Given the description of an element on the screen output the (x, y) to click on. 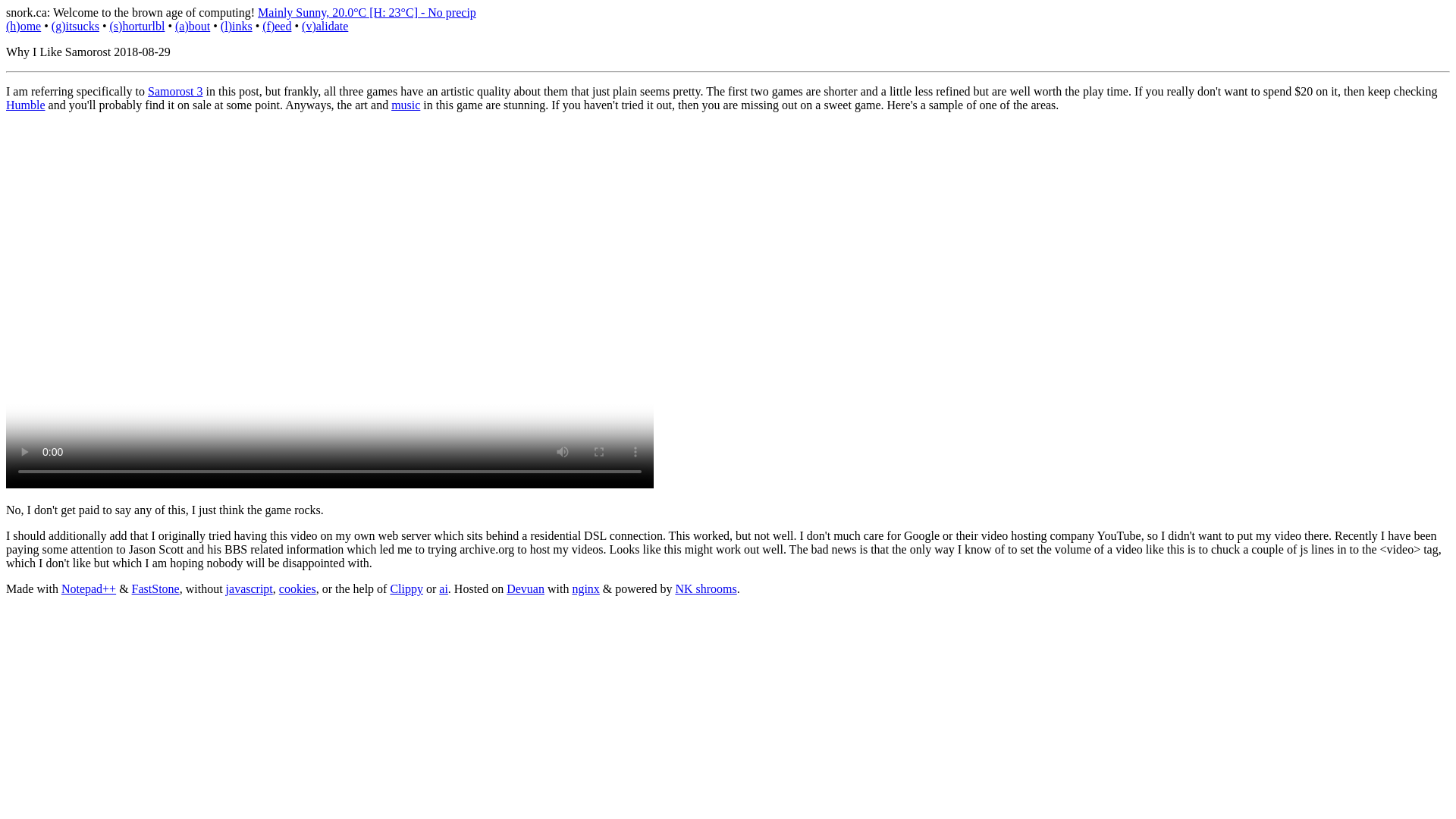
Samorost 3 (175, 91)
music (405, 104)
Humble (25, 104)
